Given the description of an element on the screen output the (x, y) to click on. 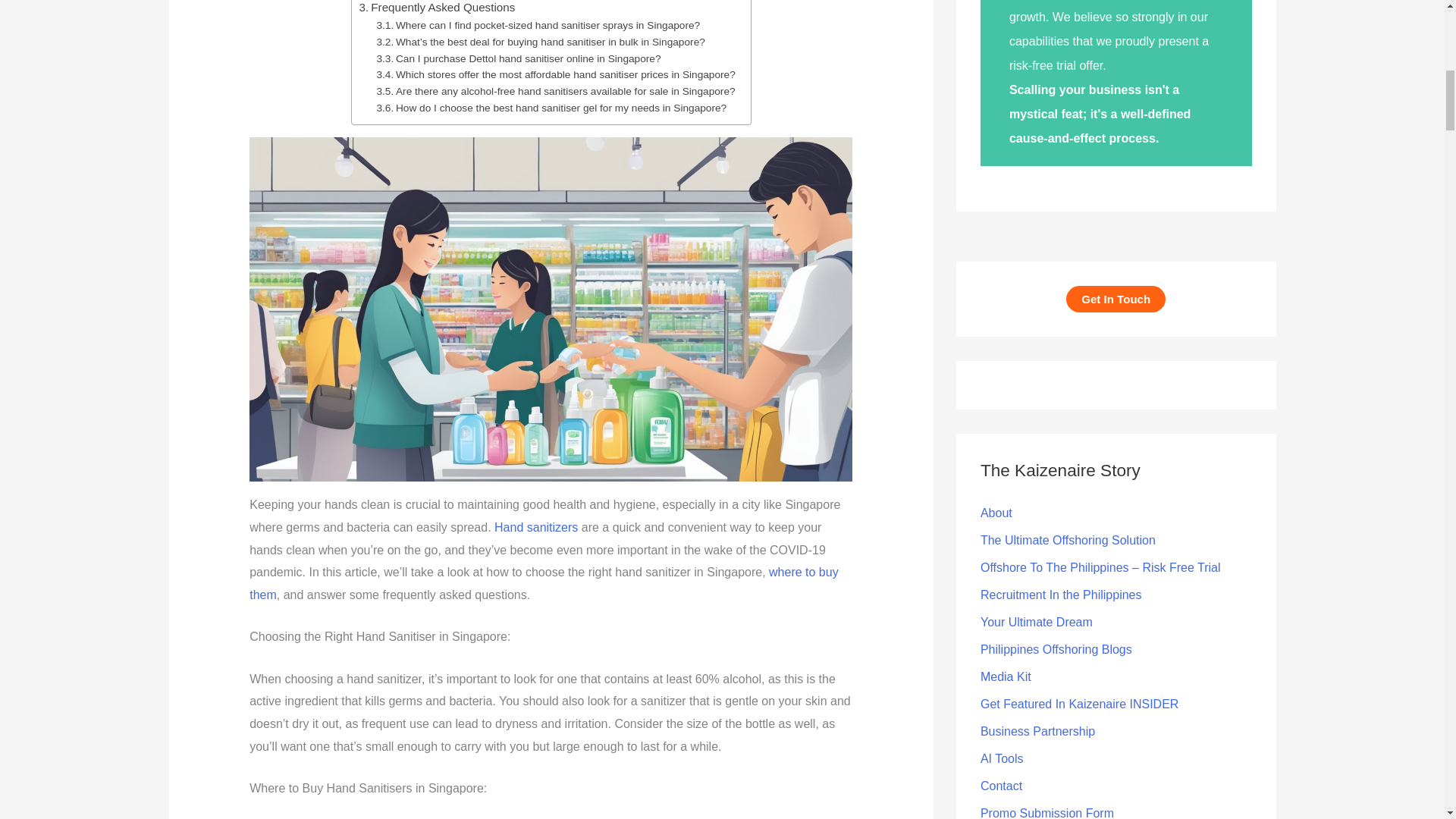
Can I purchase Dettol hand sanitiser online in Singapore? (518, 58)
Frequently Asked Questions (437, 8)
